Given the description of an element on the screen output the (x, y) to click on. 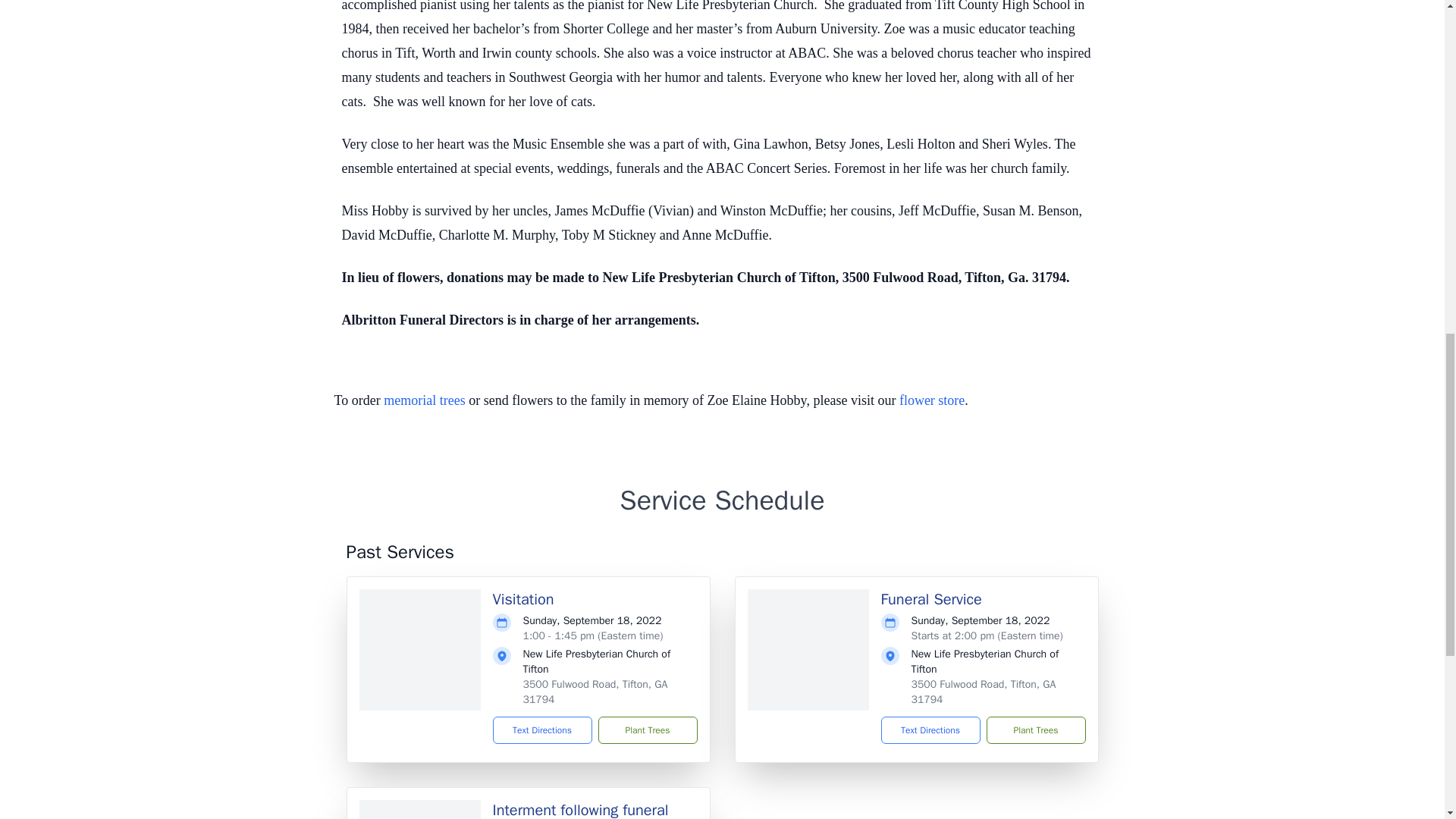
Text Directions (929, 729)
3500 Fulwood Road, Tifton, GA 31794 (595, 691)
flower store (931, 400)
Text Directions (542, 729)
Plant Trees (1034, 729)
Plant Trees (646, 729)
3500 Fulwood Road, Tifton, GA 31794 (984, 691)
memorial trees (424, 400)
